Given the description of an element on the screen output the (x, y) to click on. 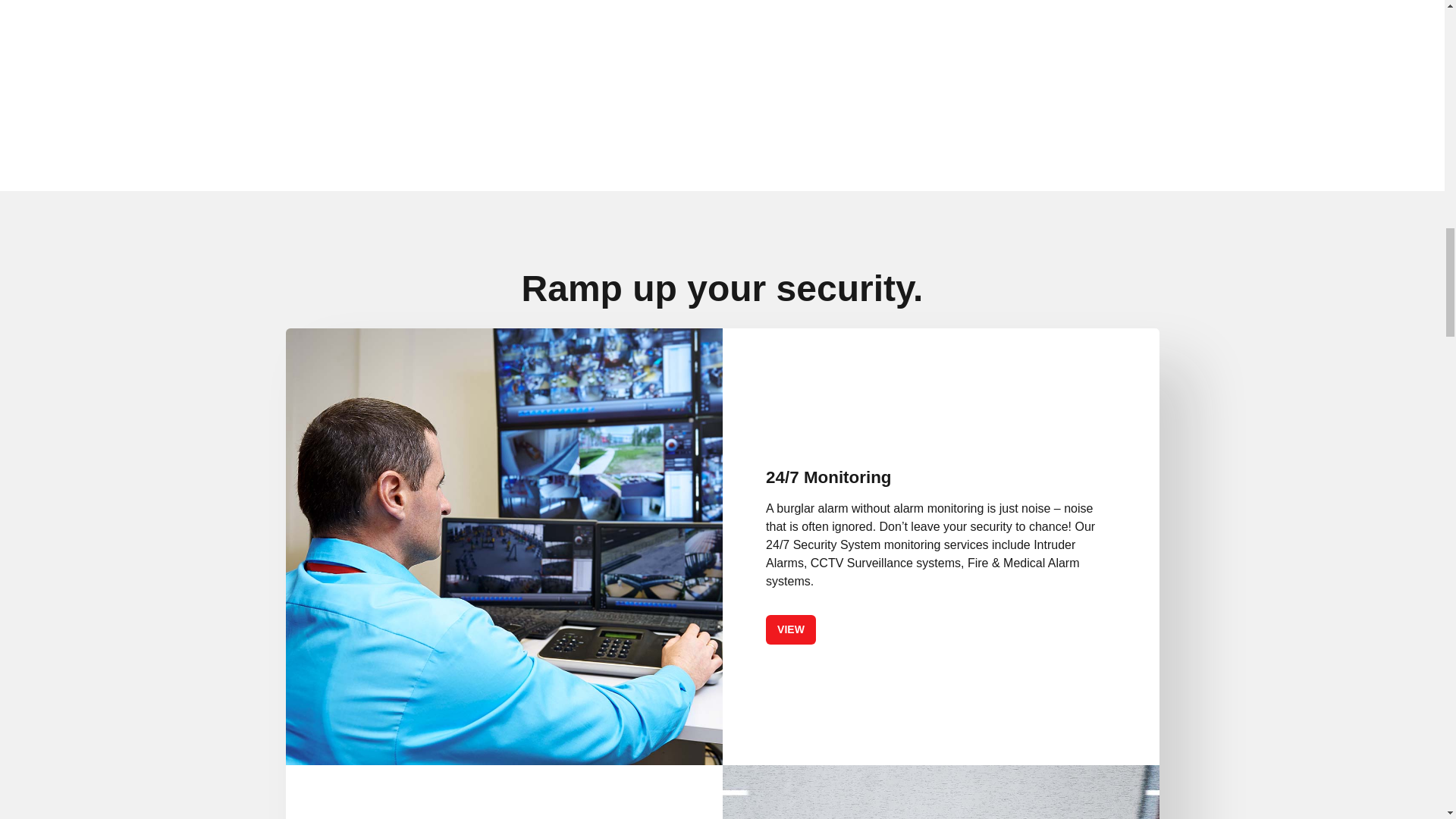
VIEW (790, 629)
